Given the description of an element on the screen output the (x, y) to click on. 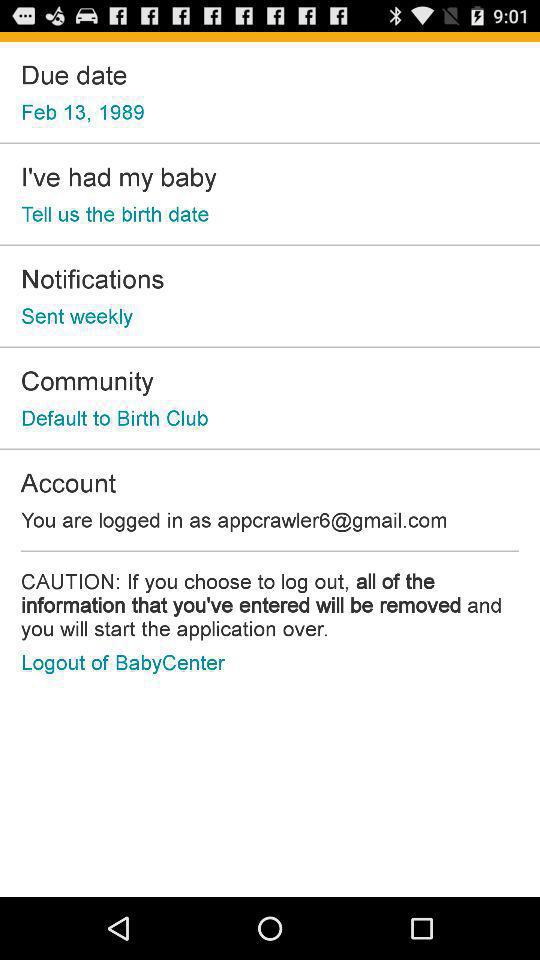
tap the logout of babycenter at the bottom left corner (122, 662)
